Given the description of an element on the screen output the (x, y) to click on. 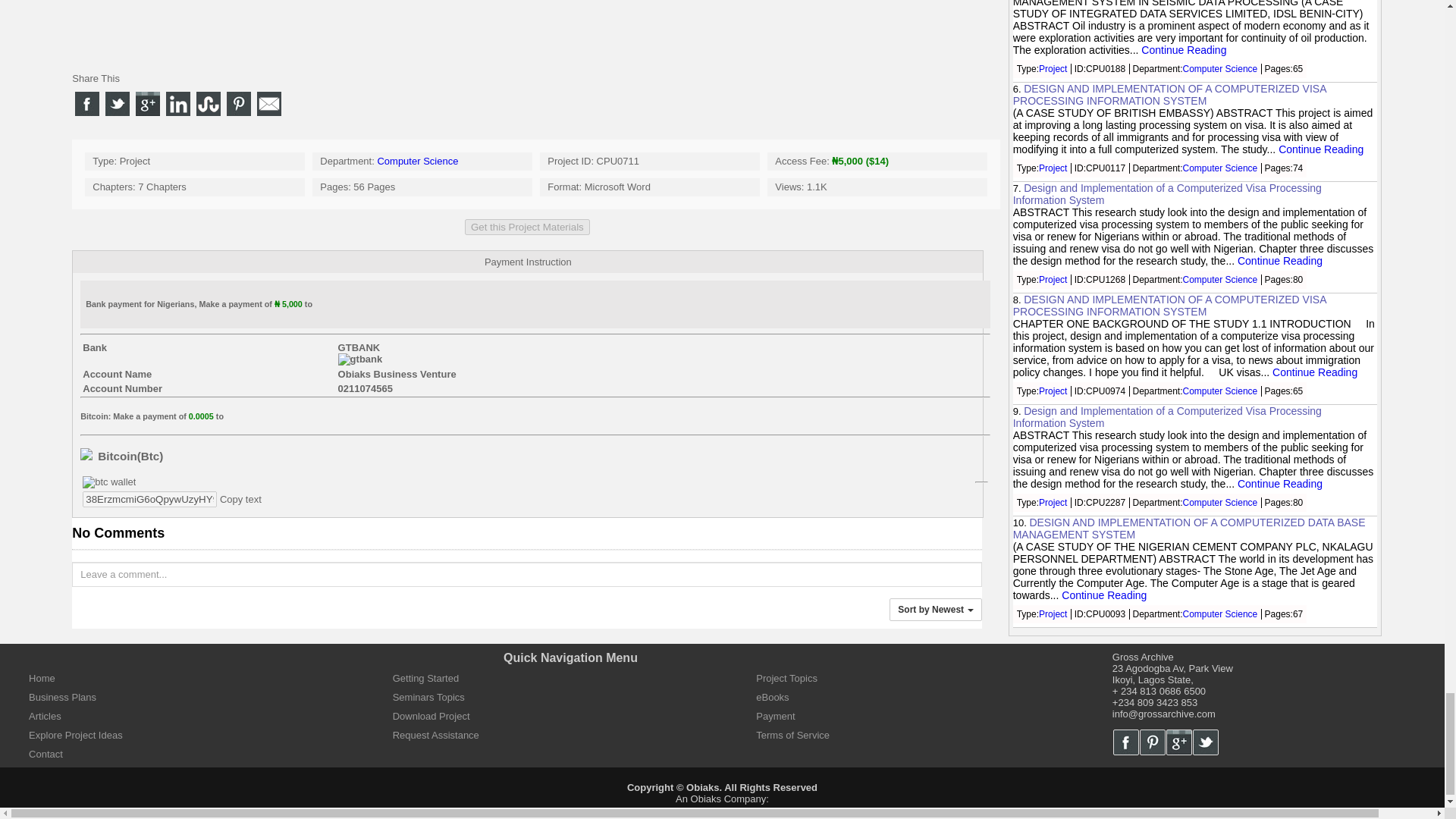
Share on Pinterst (238, 103)
Share by Email (269, 103)
Share on Google Plus (147, 103)
Share on Twitter (116, 103)
Share on StumbleUpon (208, 103)
38ErzmcmiG6oQpywUzyHY9ch6U8ime35ys (149, 498)
Share on LinkedIn (177, 103)
Share on Facebook (87, 103)
